Given the description of an element on the screen output the (x, y) to click on. 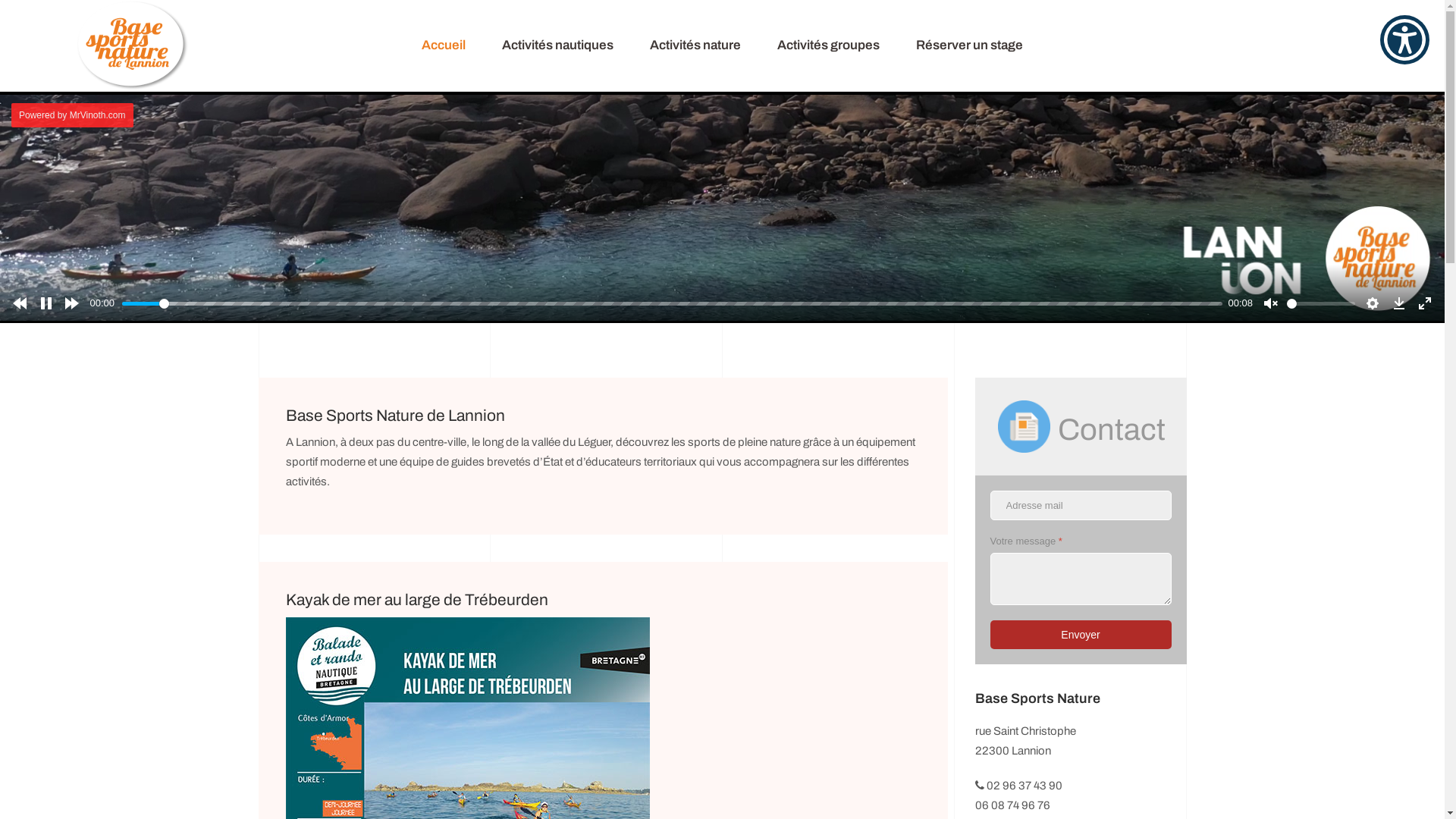
Accueil Element type: text (443, 45)
JA Alpha Element type: hover (132, 45)
Envoyer Element type: text (1080, 634)
